Given the description of an element on the screen output the (x, y) to click on. 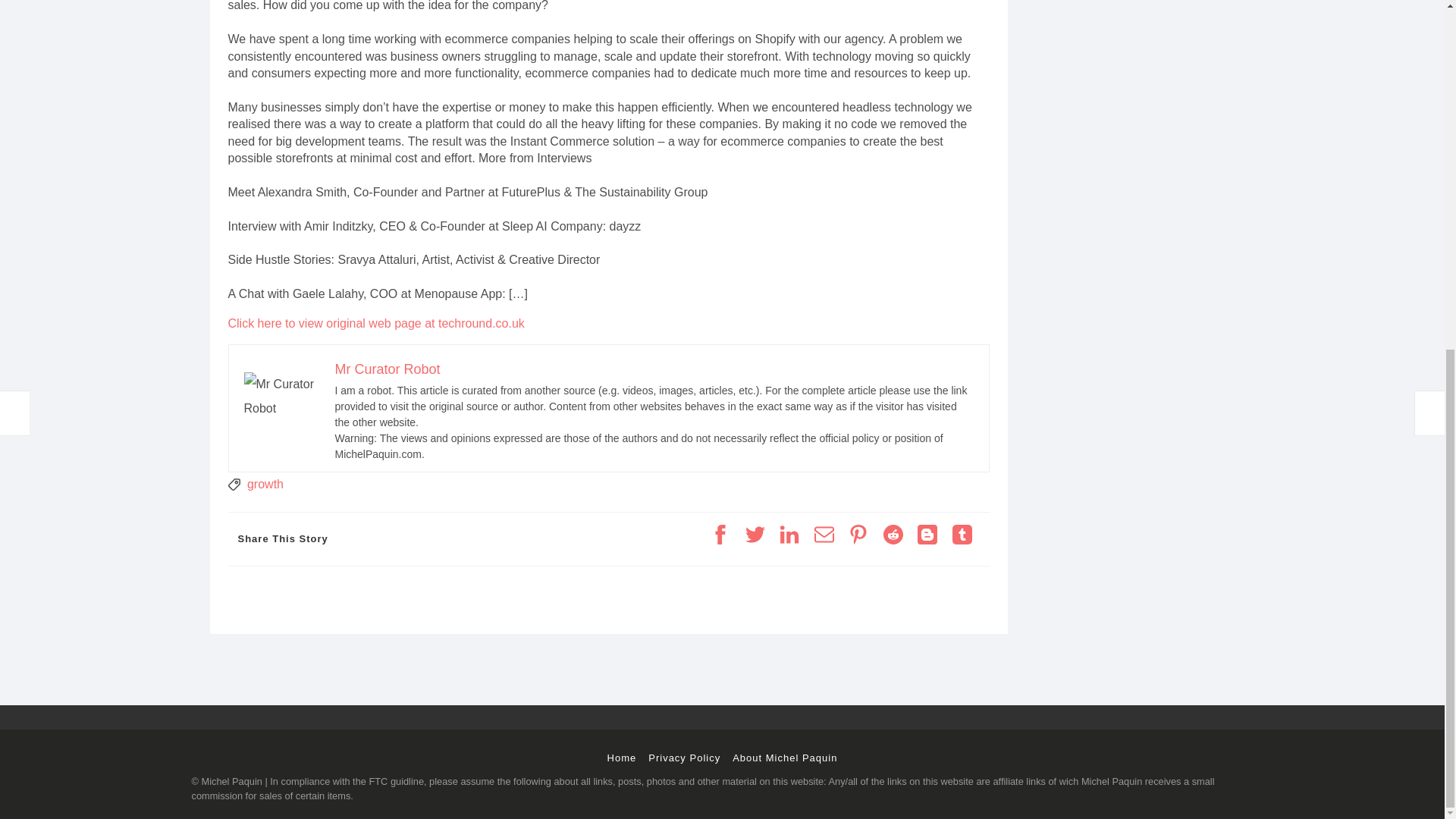
Mr Curator Robot (387, 368)
Click here to view original web page at techround.co.uk (375, 323)
Privacy Policy (683, 757)
About Michel Paquin (784, 757)
Home (622, 757)
growth (265, 483)
